Given the description of an element on the screen output the (x, y) to click on. 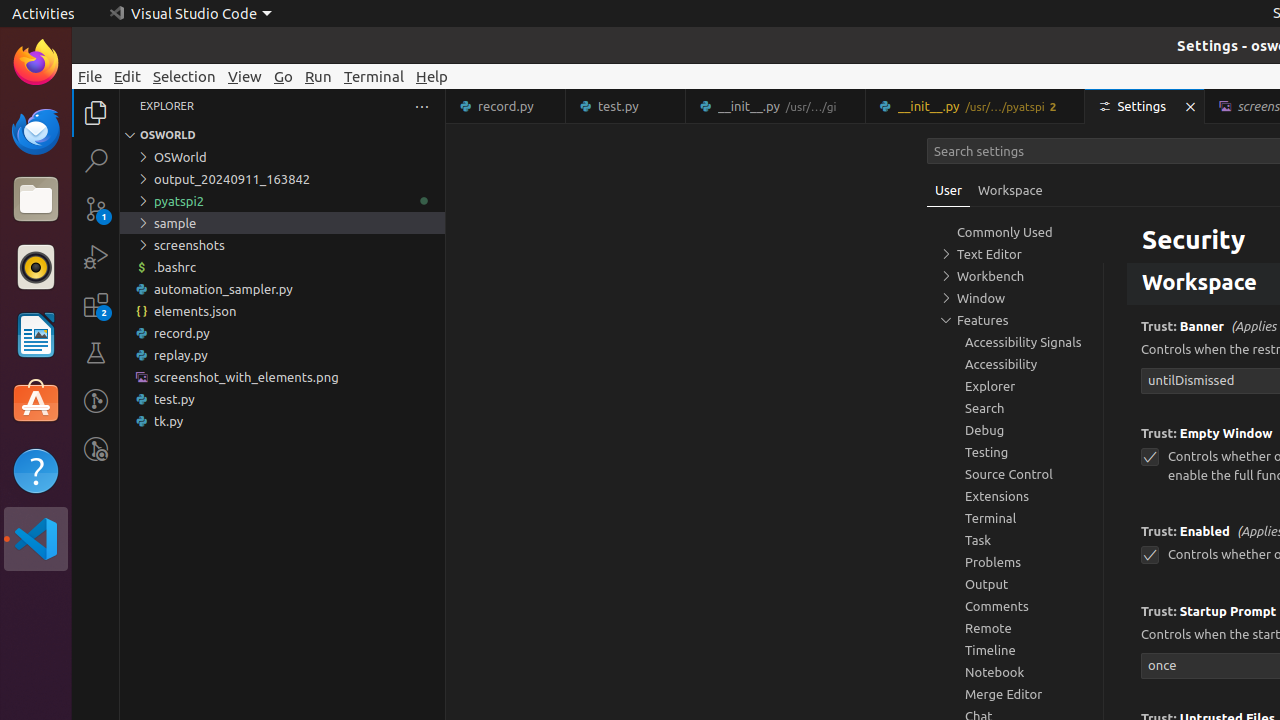
Explorer, group Element type: tree-item (1015, 386)
replay.py Element type: tree-item (282, 355)
Run and Debug (Ctrl+Shift+D) Element type: page-tab (96, 257)
OSWorld Element type: tree-item (282, 157)
